Given the description of an element on the screen output the (x, y) to click on. 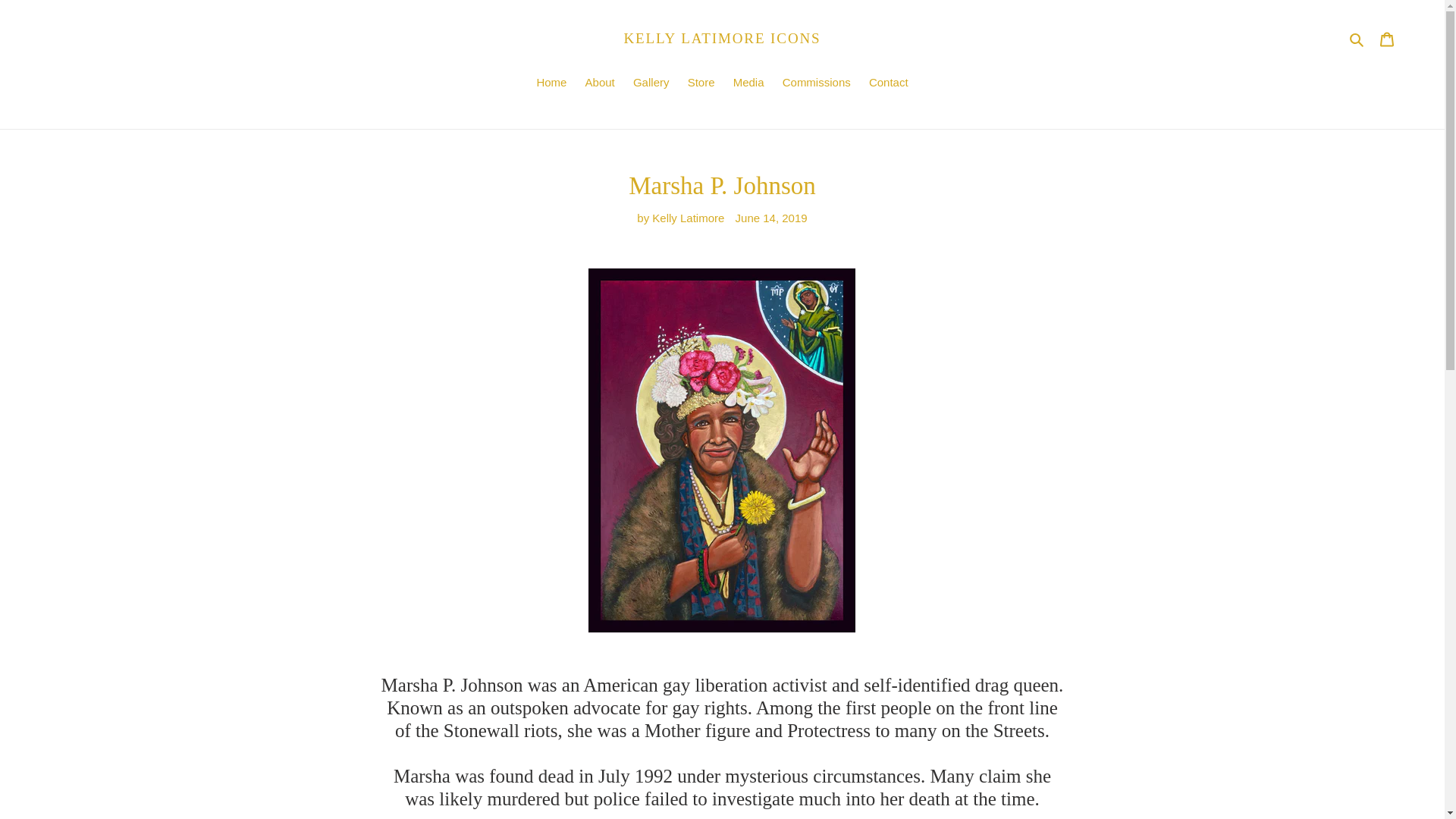
Gallery (651, 84)
Contact (888, 84)
Cart (1387, 38)
Search (1357, 38)
Commissions (816, 84)
About (600, 84)
Home (550, 84)
Store (700, 84)
KELLY LATIMORE ICONS (722, 38)
Media (748, 84)
